Given the description of an element on the screen output the (x, y) to click on. 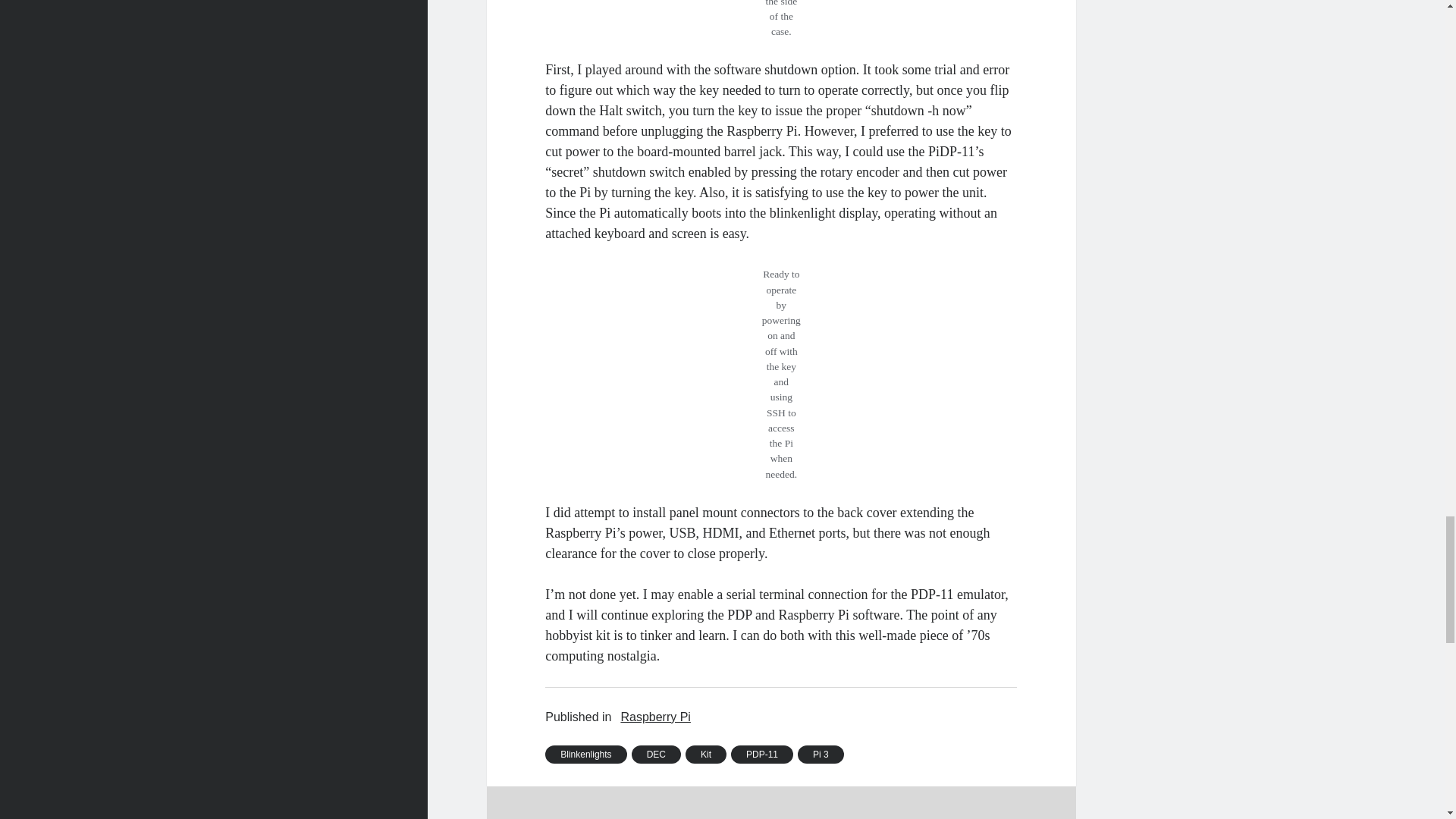
View all posts tagged Blinkenlights (585, 754)
View all posts tagged Kit (705, 754)
View all posts tagged Pi 3 (820, 754)
View all posts tagged DEC (656, 754)
View all posts tagged PDP-11 (761, 754)
View all posts in Raspberry Pi (655, 717)
